Given the description of an element on the screen output the (x, y) to click on. 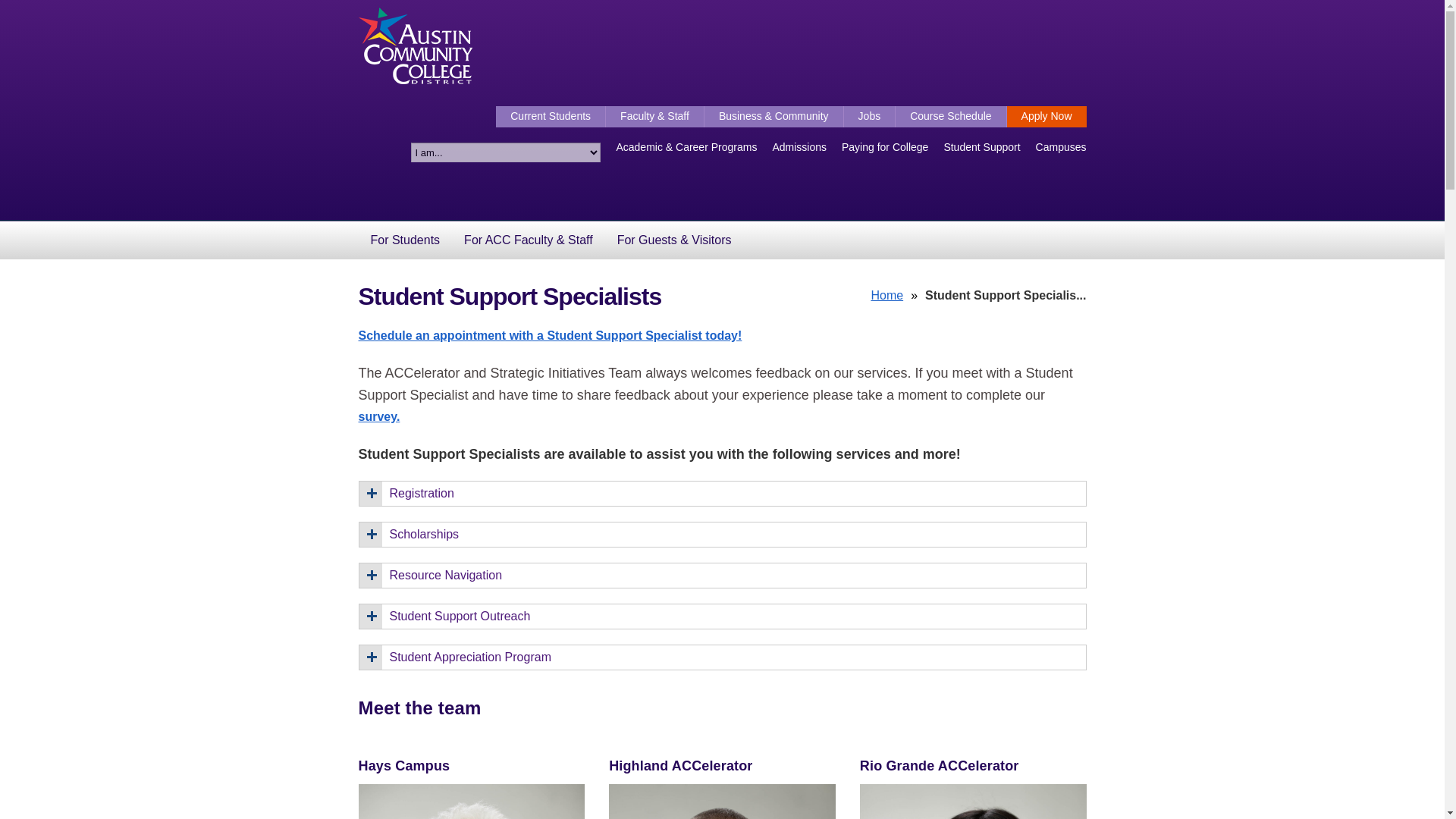
Jobs (870, 116)
For Students (404, 240)
Admissions (799, 146)
ACCeID (654, 116)
Back to Top (396, 222)
Current Students (550, 116)
Course Schedule (950, 116)
Jobs (870, 116)
Skip to Footer (682, 1)
Skip to Page Sidebar (686, 1)
Skip to Footer (682, 1)
Make Content Accessible (695, 1)
Skip to ACC Search (684, 1)
Home (886, 295)
